Given the description of an element on the screen output the (x, y) to click on. 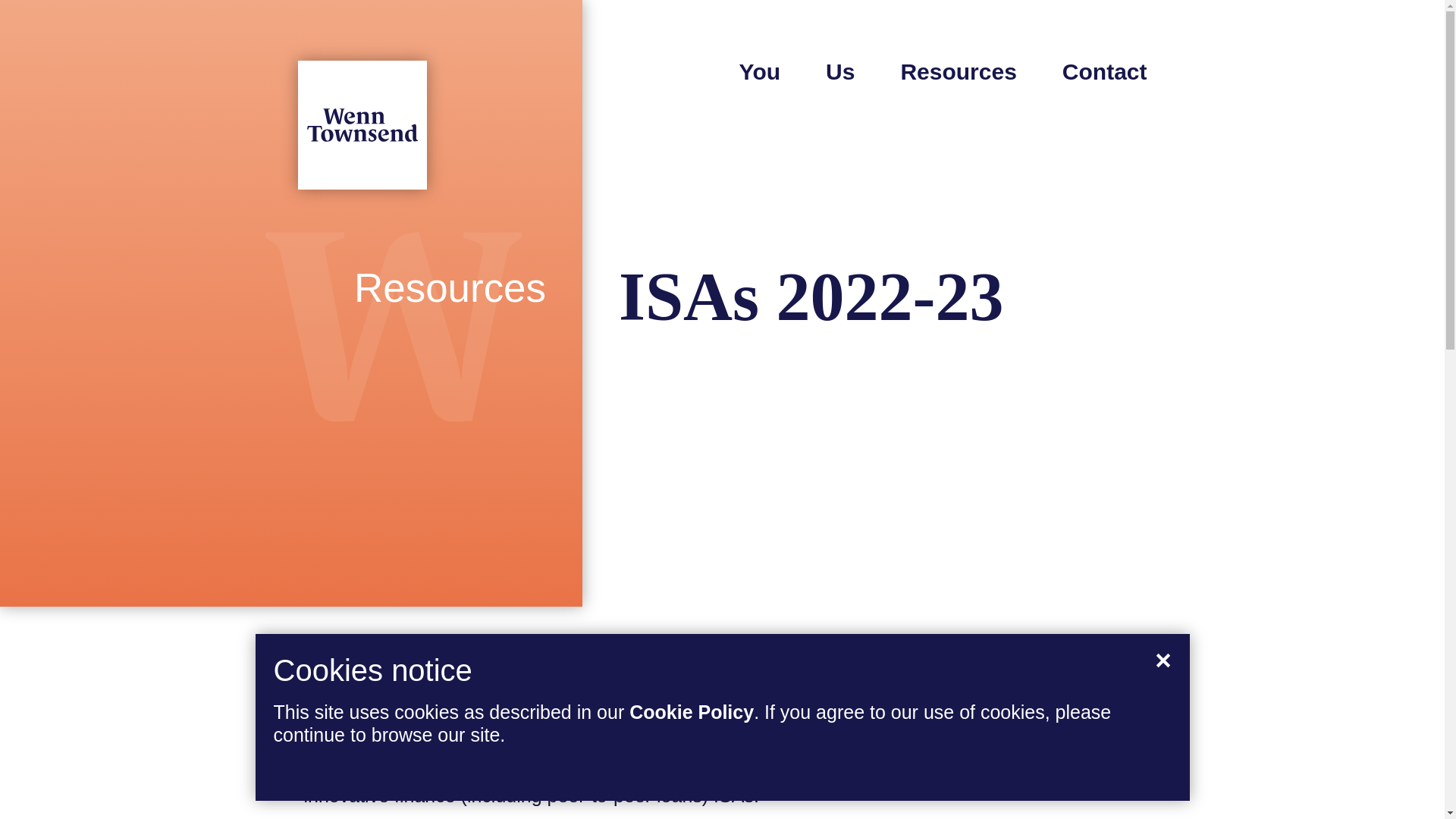
Resources (957, 71)
You (759, 71)
Contact (1104, 71)
Us (839, 71)
Cookie Policy (691, 711)
